Given the description of an element on the screen output the (x, y) to click on. 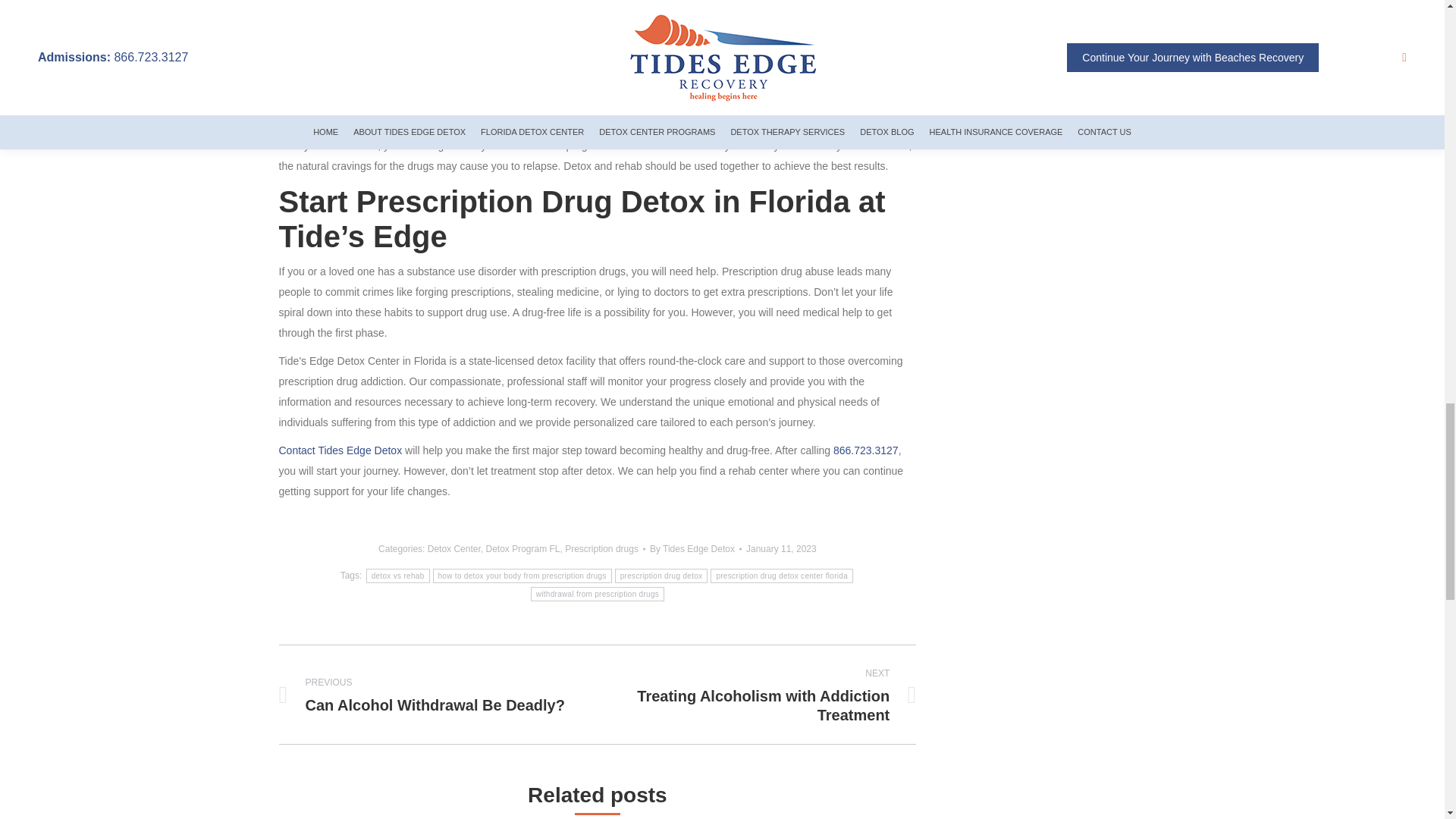
View all posts by Tides Edge Detox (695, 548)
9:00 am (780, 548)
